Given the description of an element on the screen output the (x, y) to click on. 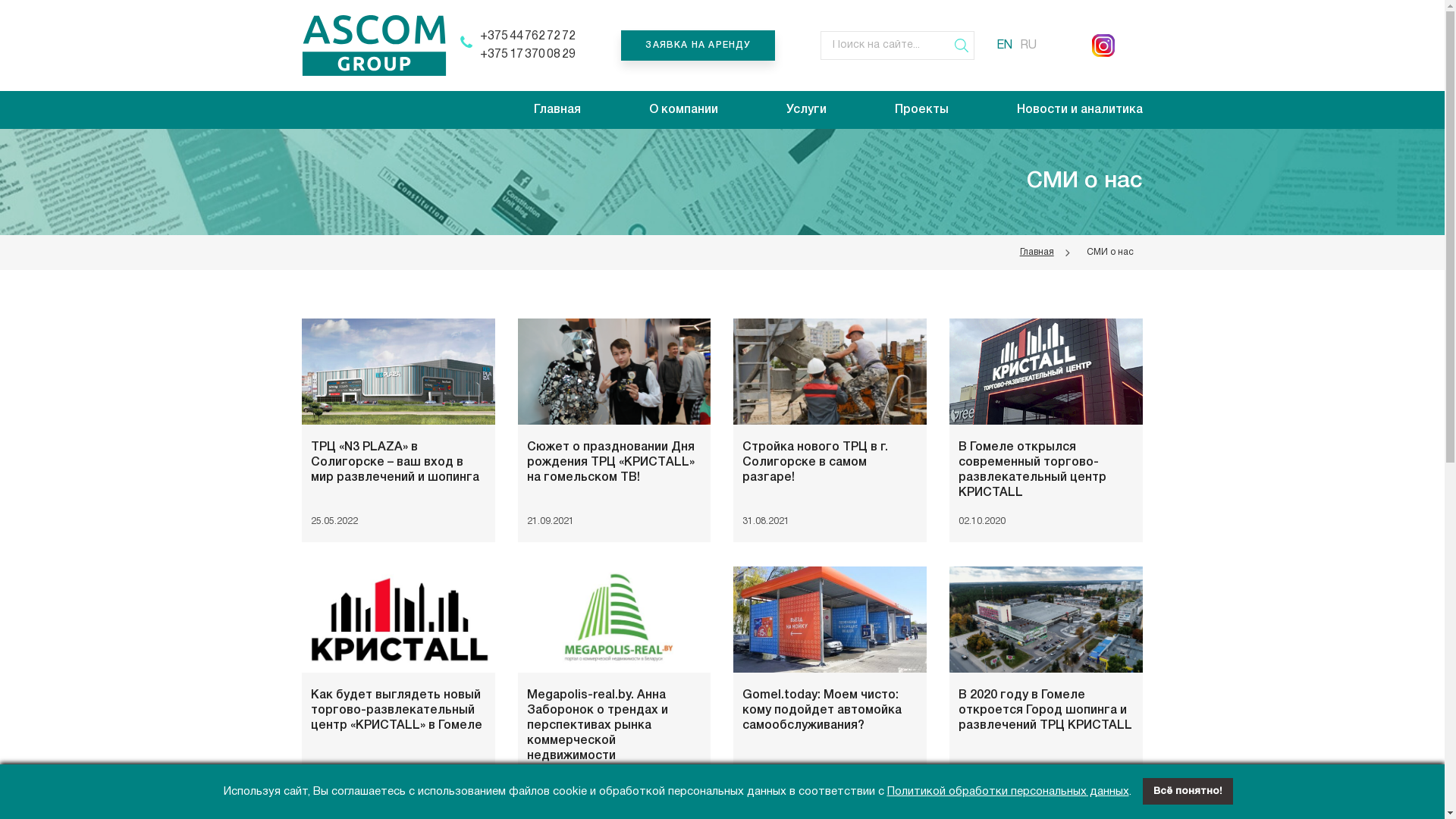
EN Element type: text (1004, 45)
